Given the description of an element on the screen output the (x, y) to click on. 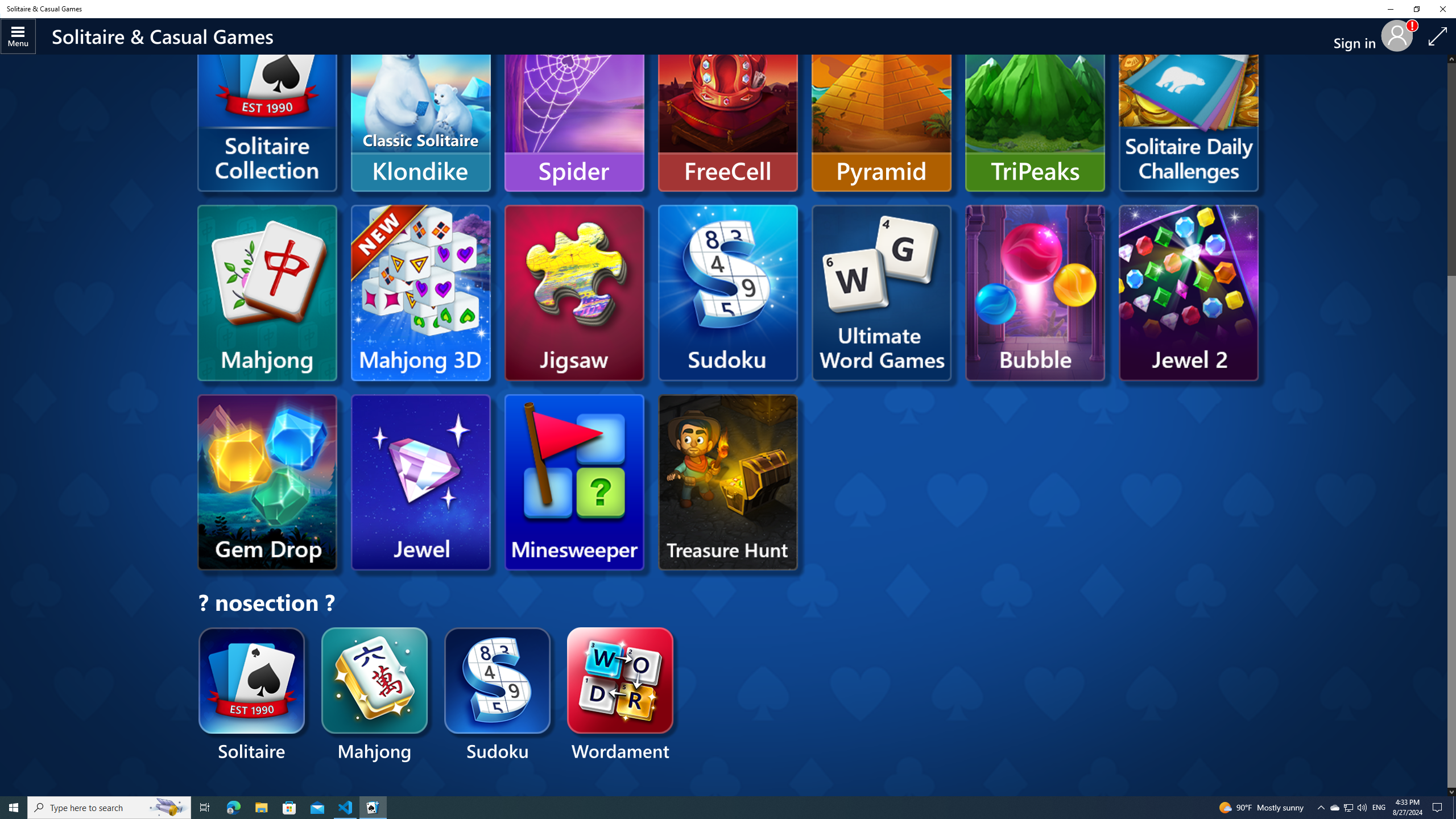
AutomationID: up_arrow_0 (1451, 58)
Microsoft Treasure Hunt (727, 481)
FreeCell (727, 103)
Solitaire (252, 695)
Microsoft Solitaire Collection (267, 120)
TriPeaks (1035, 103)
Pyramid (881, 103)
AutomationID: down_arrow_0 (1451, 791)
Close Solitaire & Casual Games (1442, 9)
Microsoft UWG (881, 292)
